Given the description of an element on the screen output the (x, y) to click on. 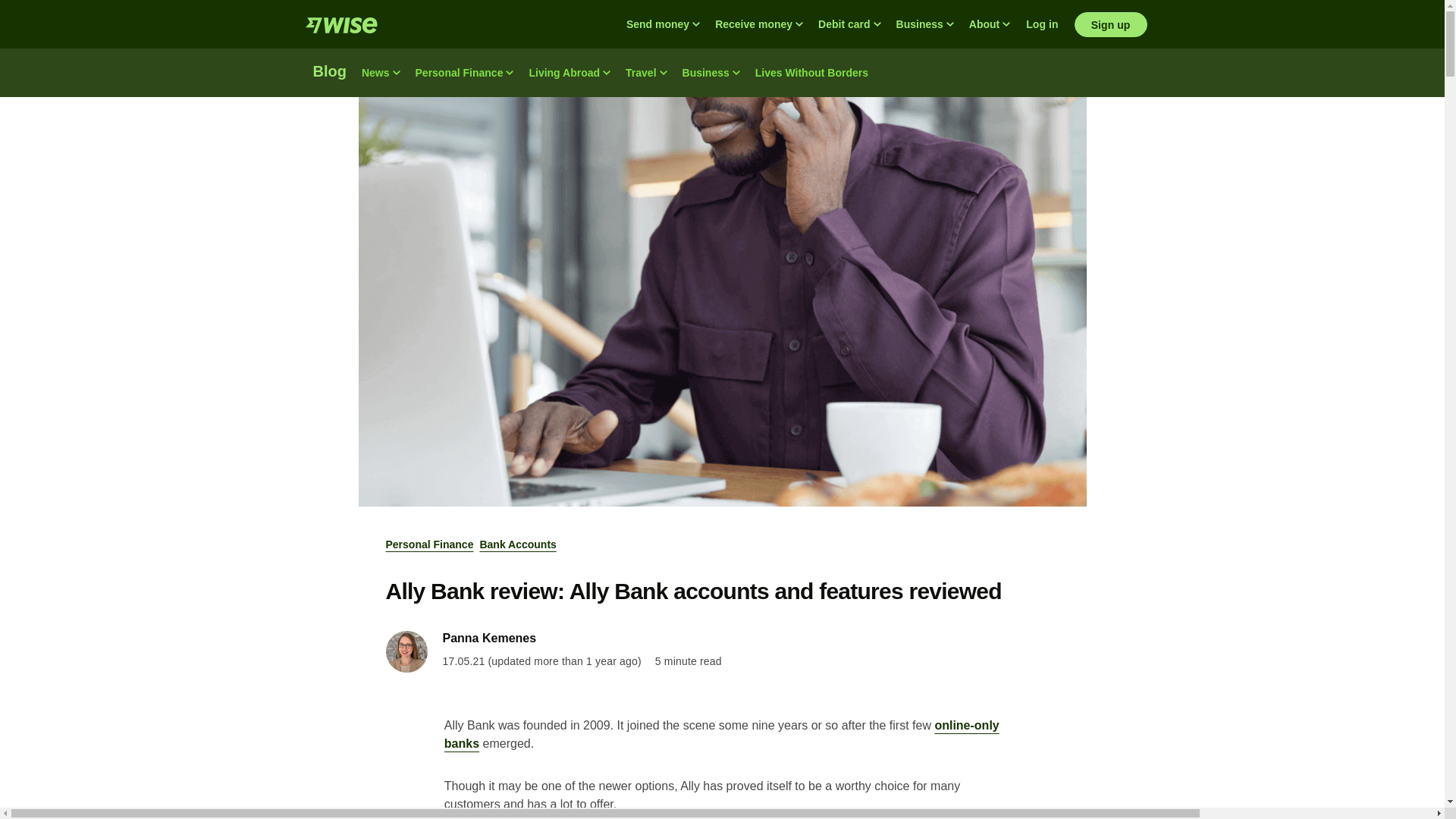
Personal Finance (464, 72)
News (380, 72)
Blog (328, 72)
Living Abroad (569, 72)
